Given the description of an element on the screen output the (x, y) to click on. 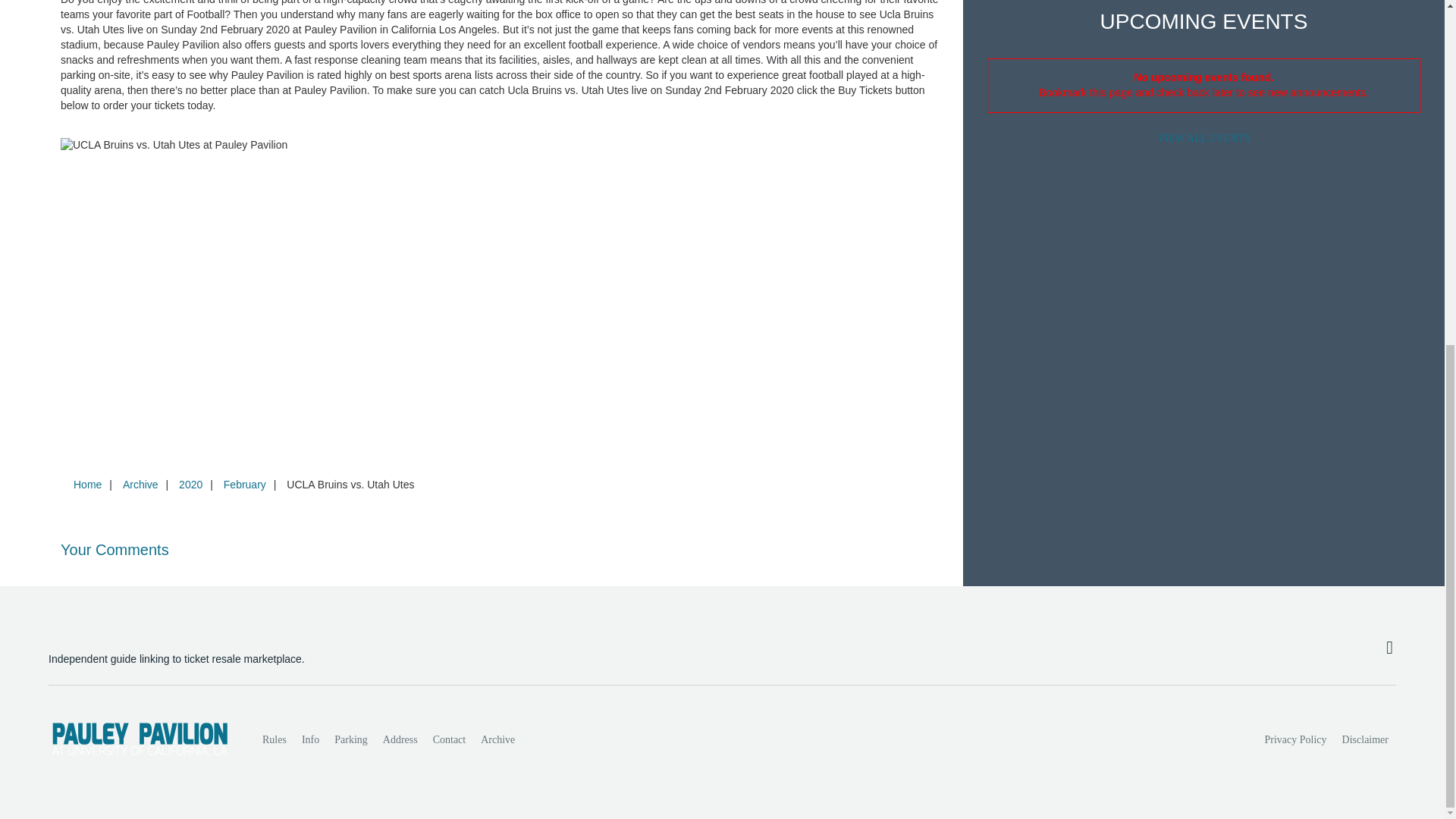
Archive (140, 484)
Address (400, 739)
VIEW ALL EVENTS (1203, 138)
Home (87, 484)
Contact (449, 739)
Archive (497, 739)
February (244, 484)
Privacy Policy (1296, 739)
Rules (274, 739)
Info (310, 739)
2020 (190, 484)
Parking (350, 739)
Disclaimer (1365, 739)
UCLA Bruins vs. Utah Utes at Pauley Pavilion tickets (500, 145)
